Given the description of an element on the screen output the (x, y) to click on. 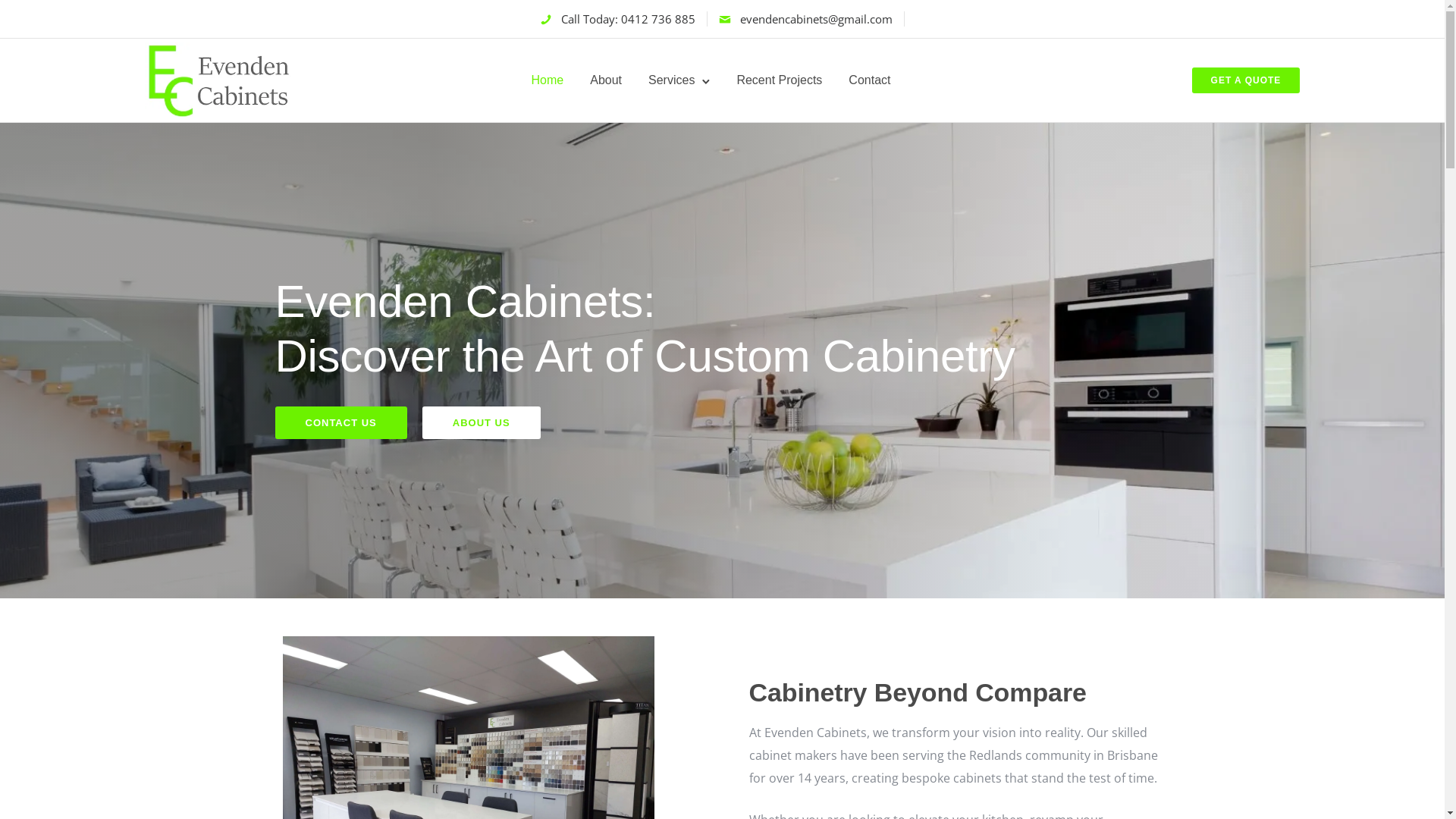
ABOUT US Element type: text (481, 422)
Recent Projects Element type: text (778, 79)
Home Element type: text (547, 79)
GET A QUOTE Element type: text (1246, 80)
evendencabinets@gmail.com Element type: text (816, 17)
About Element type: text (605, 79)
Call Today: 0412 736 885 Element type: text (628, 17)
Services Element type: text (671, 79)
Contact Element type: text (868, 79)
CONTACT US Element type: text (340, 422)
